Given the description of an element on the screen output the (x, y) to click on. 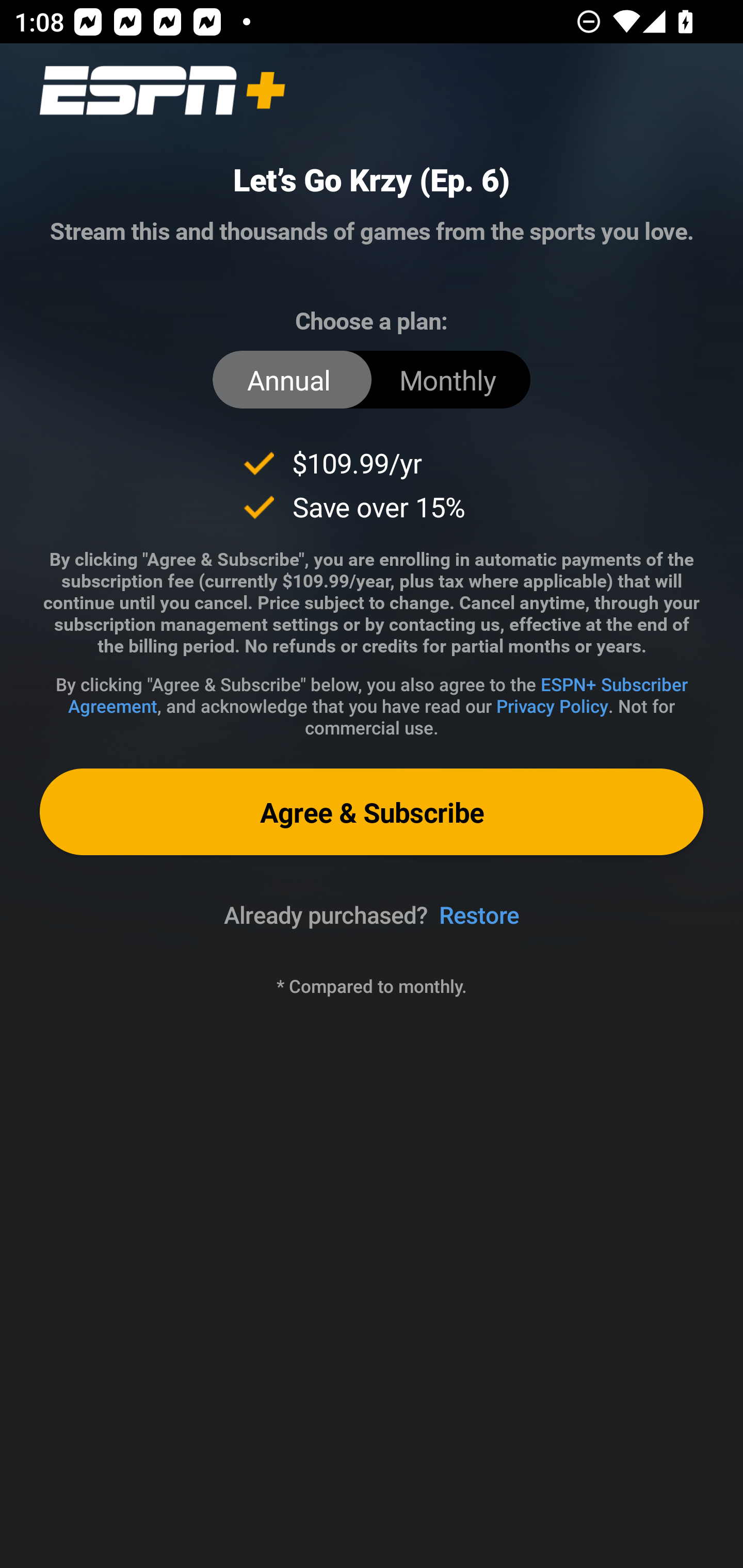
Agree & Subscribe (371, 811)
